Given the description of an element on the screen output the (x, y) to click on. 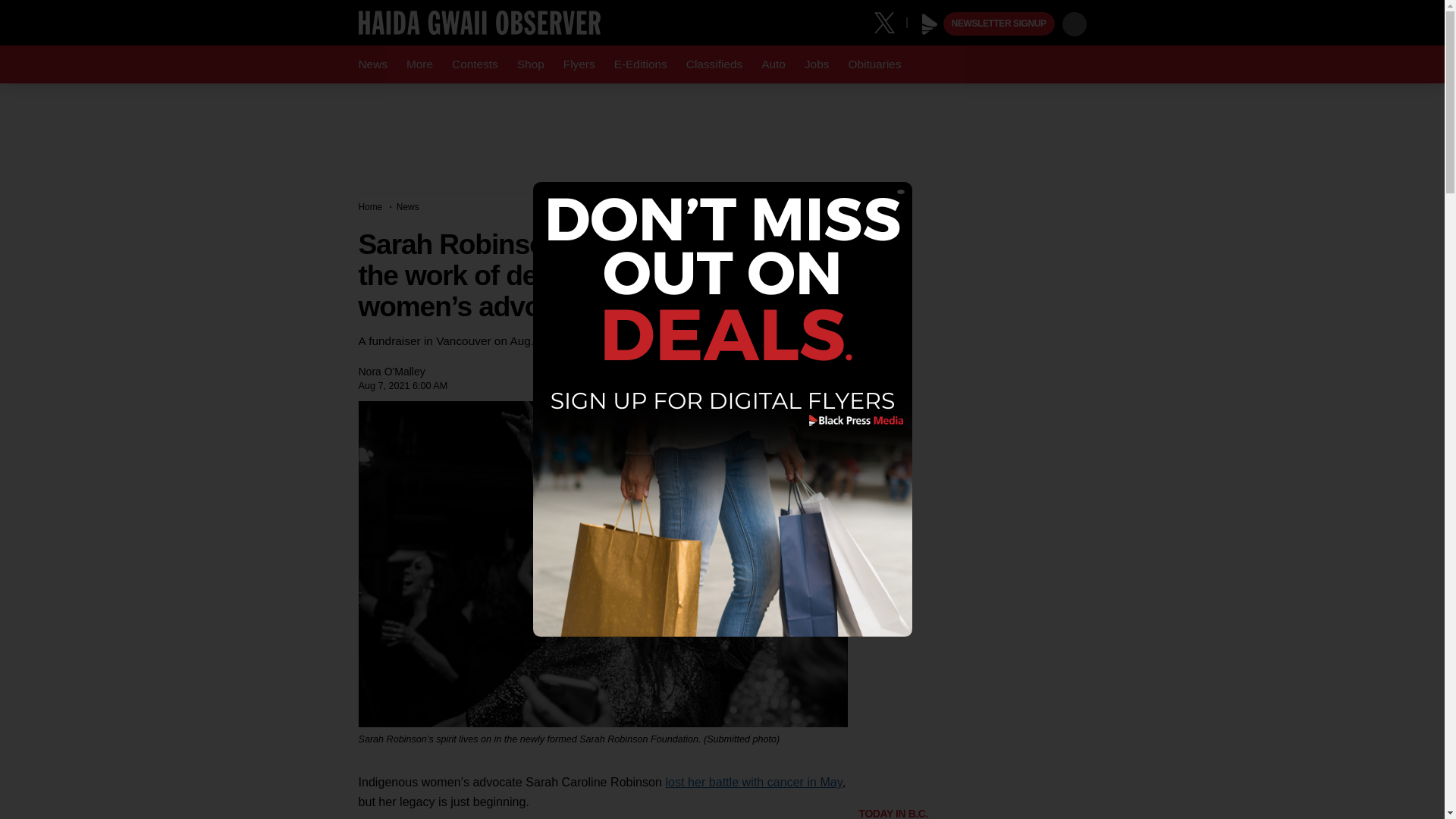
Play (929, 24)
News (372, 64)
Black Press Media (929, 24)
NEWSLETTER SIGNUP (998, 24)
X (889, 21)
